Given the description of an element on the screen output the (x, y) to click on. 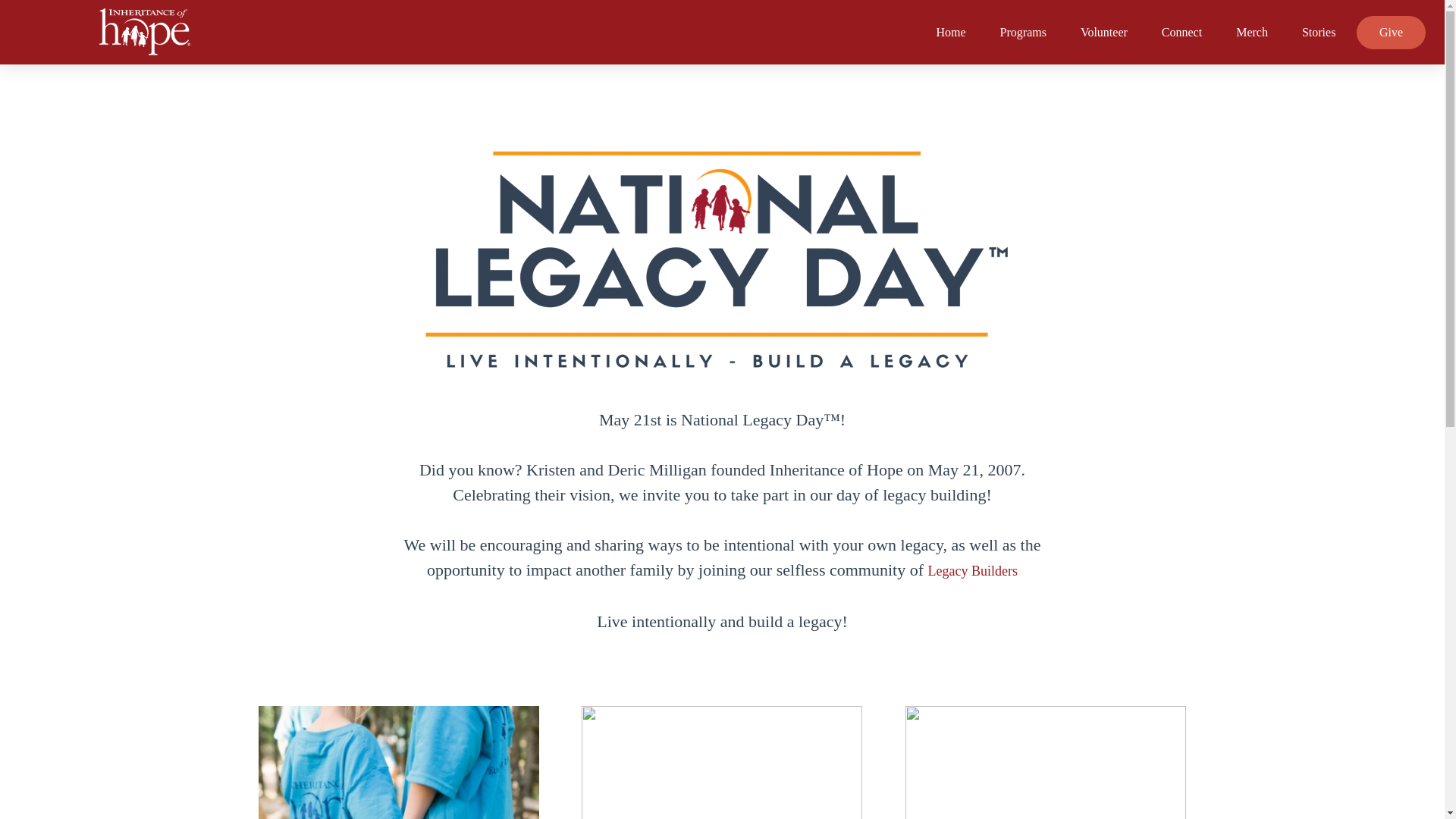
Give (1390, 31)
Programs (1023, 32)
Volunteer (1103, 32)
Connect (1181, 32)
